Given the description of an element on the screen output the (x, y) to click on. 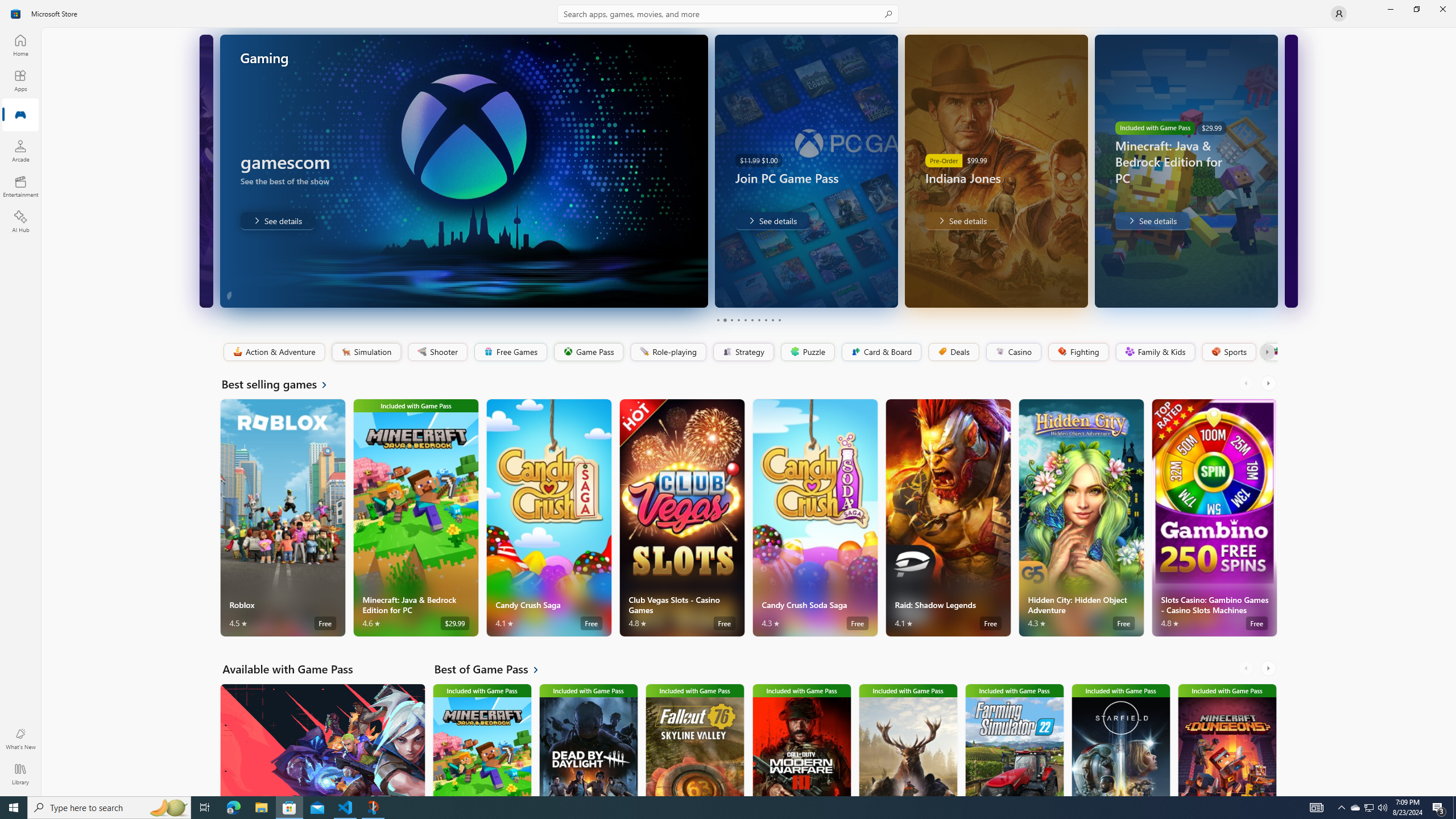
Minimize Microsoft Store (1390, 9)
Page 10 (779, 319)
Puzzle (807, 352)
AutomationID: Image (1290, 170)
Roblox. Average rating of 4.5 out of five stars. Free   (282, 517)
Available with Game Pass. VALORANT (322, 739)
Page 3 (731, 319)
Shooter (436, 352)
Page 8 (764, 319)
Strategy (742, 352)
AutomationID: RightScrollButton (1269, 668)
Simulation (365, 352)
Fighting (1078, 352)
Close Microsoft Store (1442, 9)
